Given the description of an element on the screen output the (x, y) to click on. 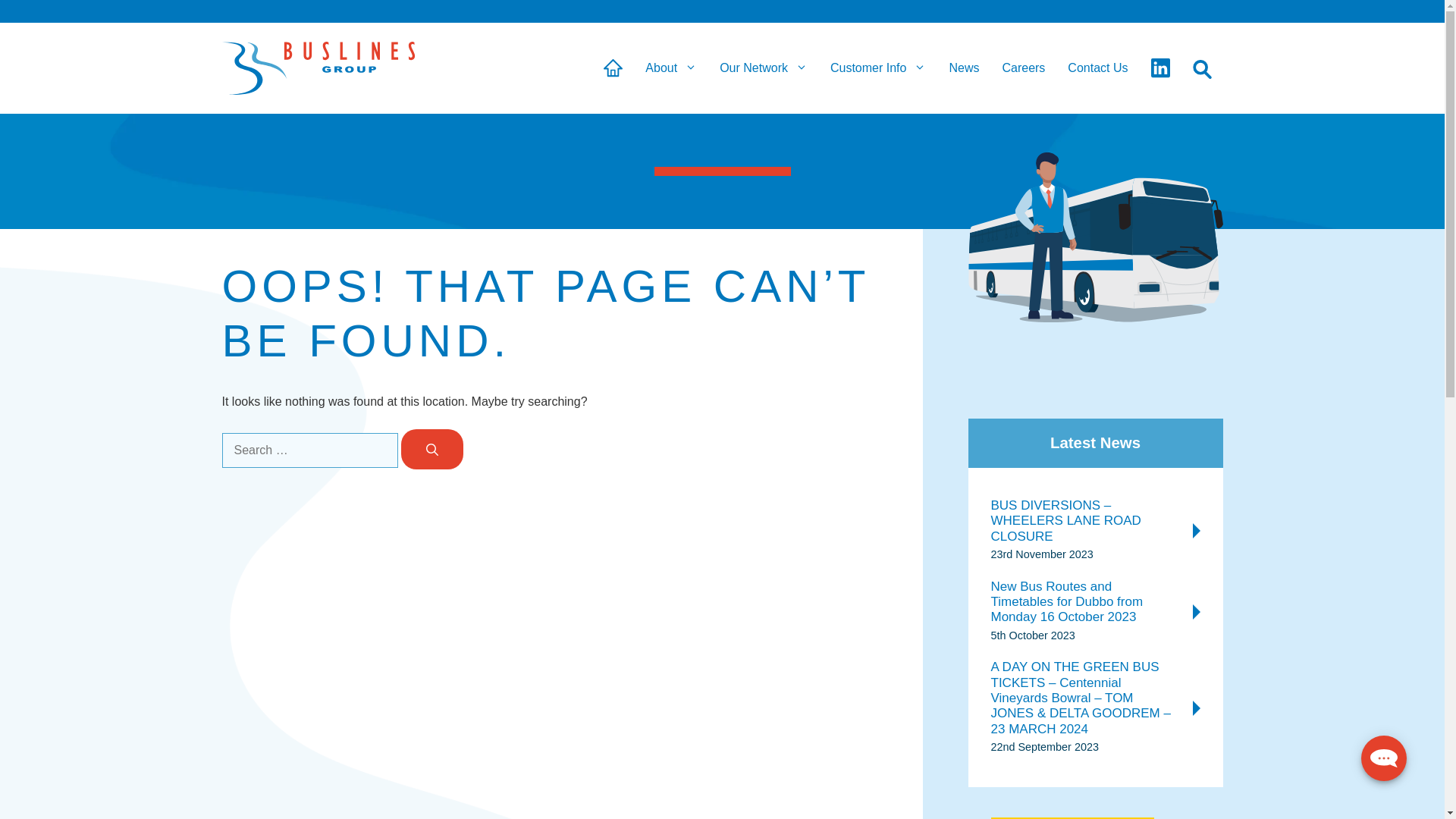
Buslines Group Element type: hover (317, 67)
Careers Element type: text (1023, 67)
Latest News Element type: text (1095, 442)
Contact Us Element type: text (1097, 67)
Customer Info Element type: text (878, 67)
Search for: Element type: hover (309, 450)
About Element type: text (670, 67)
News Element type: text (963, 67)
Our Network Element type: text (763, 67)
